Given the description of an element on the screen output the (x, y) to click on. 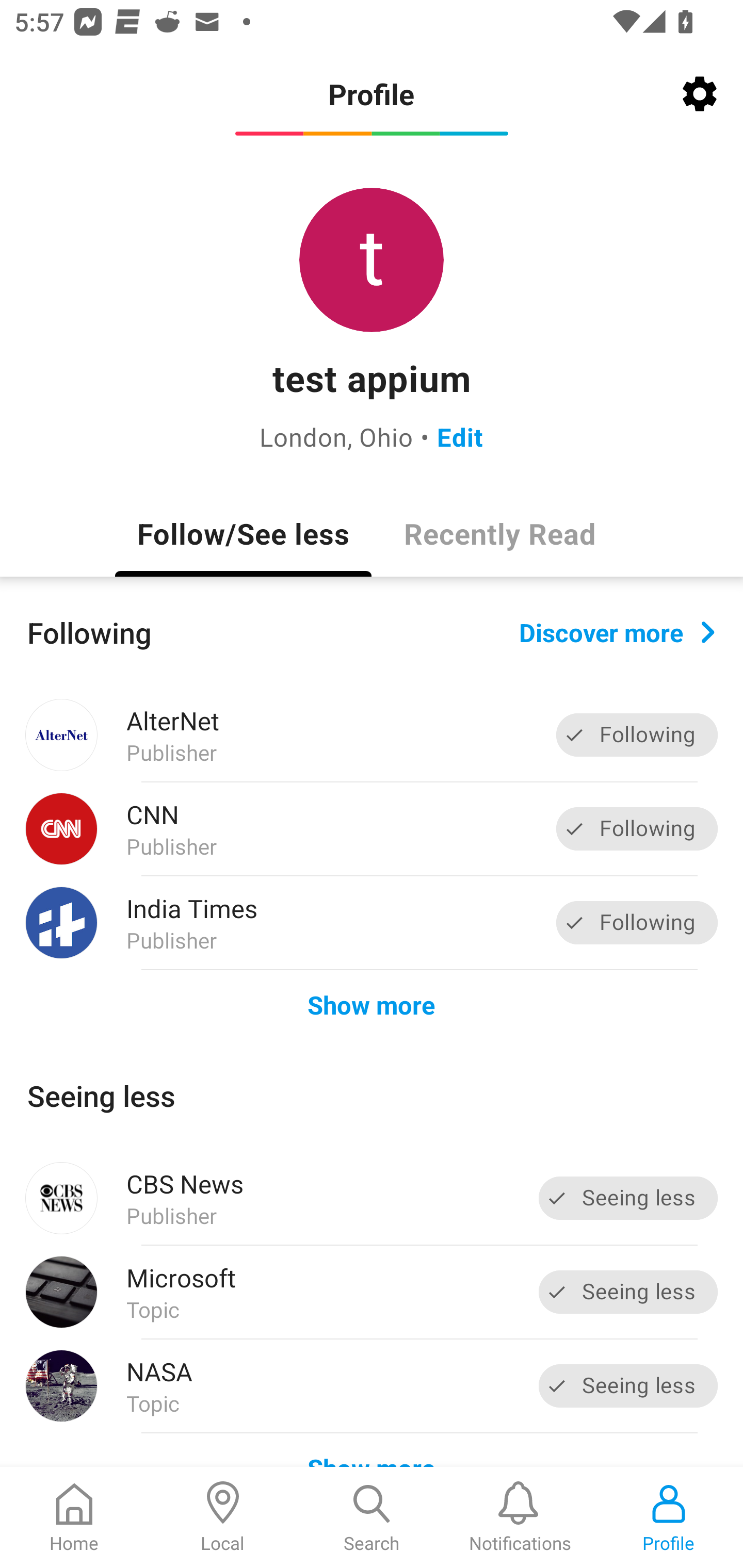
Settings (699, 93)
Edit (459, 436)
Recently Read (499, 533)
Discover more (617, 631)
AlterNet Publisher Following (371, 735)
Following (636, 735)
CNN Publisher Following (371, 829)
Following (636, 828)
India Times Publisher Following (371, 922)
Following (636, 922)
Show more (371, 1004)
CBS News Publisher Seeing less (371, 1197)
Seeing less (627, 1197)
Microsoft Topic Seeing less (371, 1291)
Seeing less (627, 1291)
NASA Topic Seeing less (371, 1386)
Seeing less (627, 1386)
Home (74, 1517)
Local (222, 1517)
Search (371, 1517)
Notifications (519, 1517)
